Given the description of an element on the screen output the (x, y) to click on. 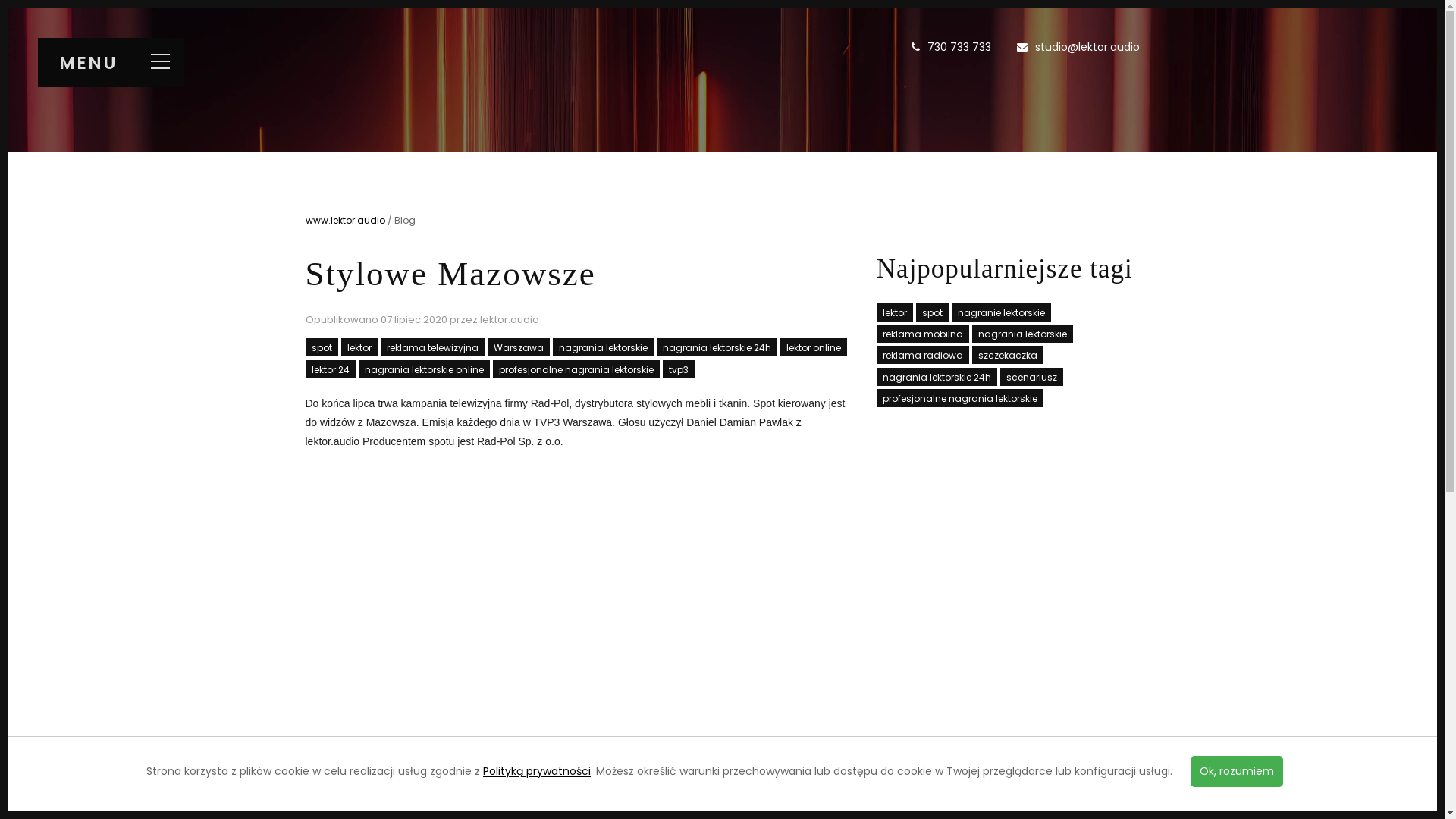
nagrania lektorskie Element type: text (602, 347)
studio@lektor.audio Element type: text (1086, 46)
reklama telewizyjna Element type: text (432, 347)
reklama radiowa Element type: text (922, 354)
spot Element type: text (320, 347)
reklama mobilna Element type: text (922, 333)
Warszawa Element type: text (517, 347)
lektor 24 Element type: text (329, 369)
nagrania lektorskie 24h Element type: text (716, 347)
scenariusz Element type: text (1031, 376)
spot Element type: text (932, 312)
lektor Element type: text (359, 347)
nagrania lektorskie online Element type: text (423, 369)
profesjonalne nagrania lektorskie Element type: text (575, 369)
lektor online Element type: text (812, 347)
tvp3 Element type: text (678, 369)
nagranie lektorskie Element type: text (1001, 312)
www.lektor.audio Element type: text (344, 219)
szczekaczka Element type: text (1007, 354)
profesjonalne nagrania lektorskie Element type: text (959, 398)
nagrania lektorskie 24h Element type: text (936, 376)
nagrania lektorskie Element type: text (1022, 333)
lektor Element type: text (894, 312)
